Given the description of an element on the screen output the (x, y) to click on. 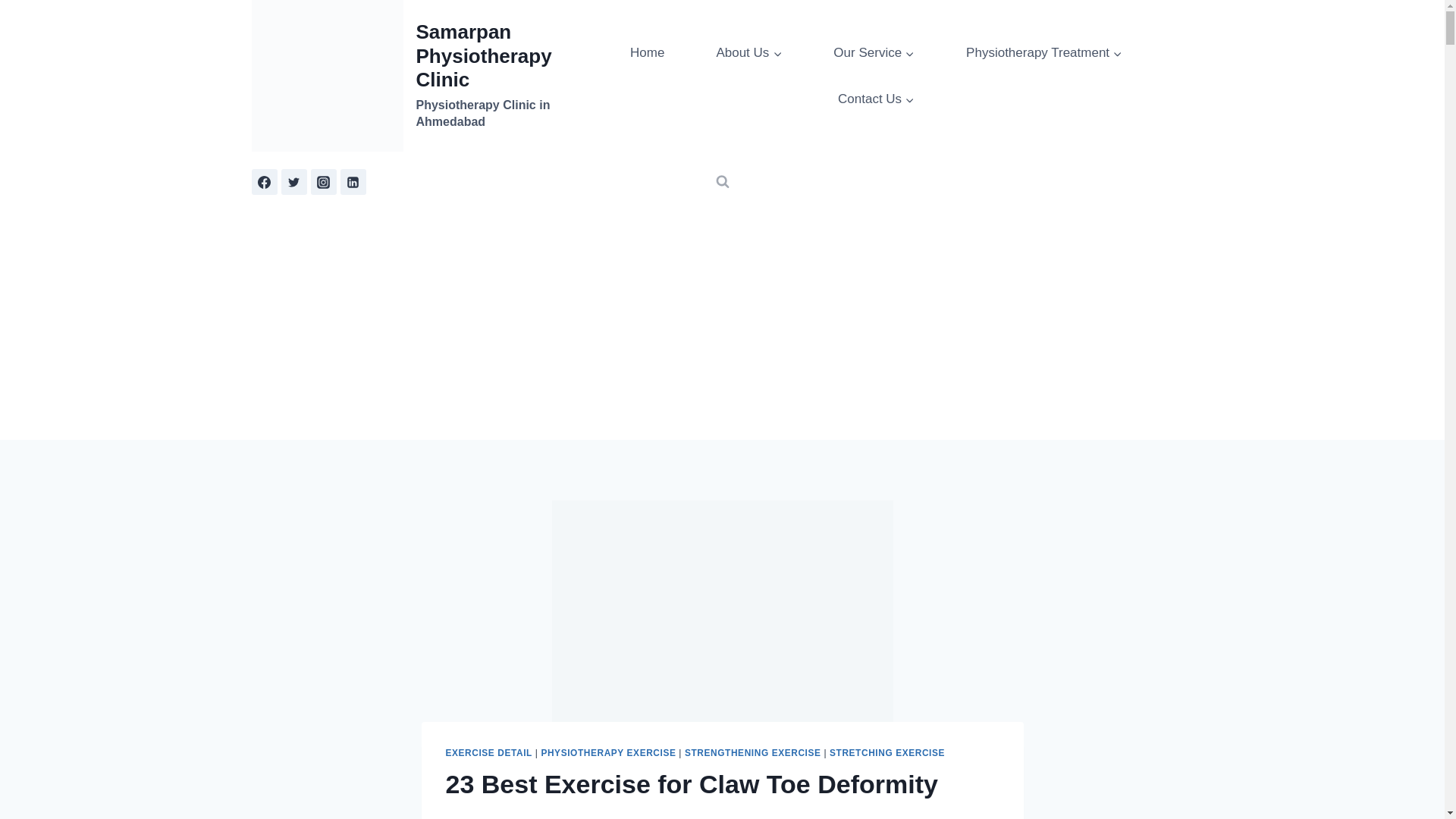
PHYSIOTHERAPY EXERCISE (607, 752)
EXERCISE DETAIL (488, 752)
Our Service (874, 52)
STRENGTHENING EXERCISE (752, 752)
Home (647, 52)
About Us (749, 52)
STRETCHING EXERCISE (886, 752)
Contact Us (876, 99)
Dr.Neelam Prajapati (506, 817)
Physiotherapy Treatment (1044, 52)
